Given the description of an element on the screen output the (x, y) to click on. 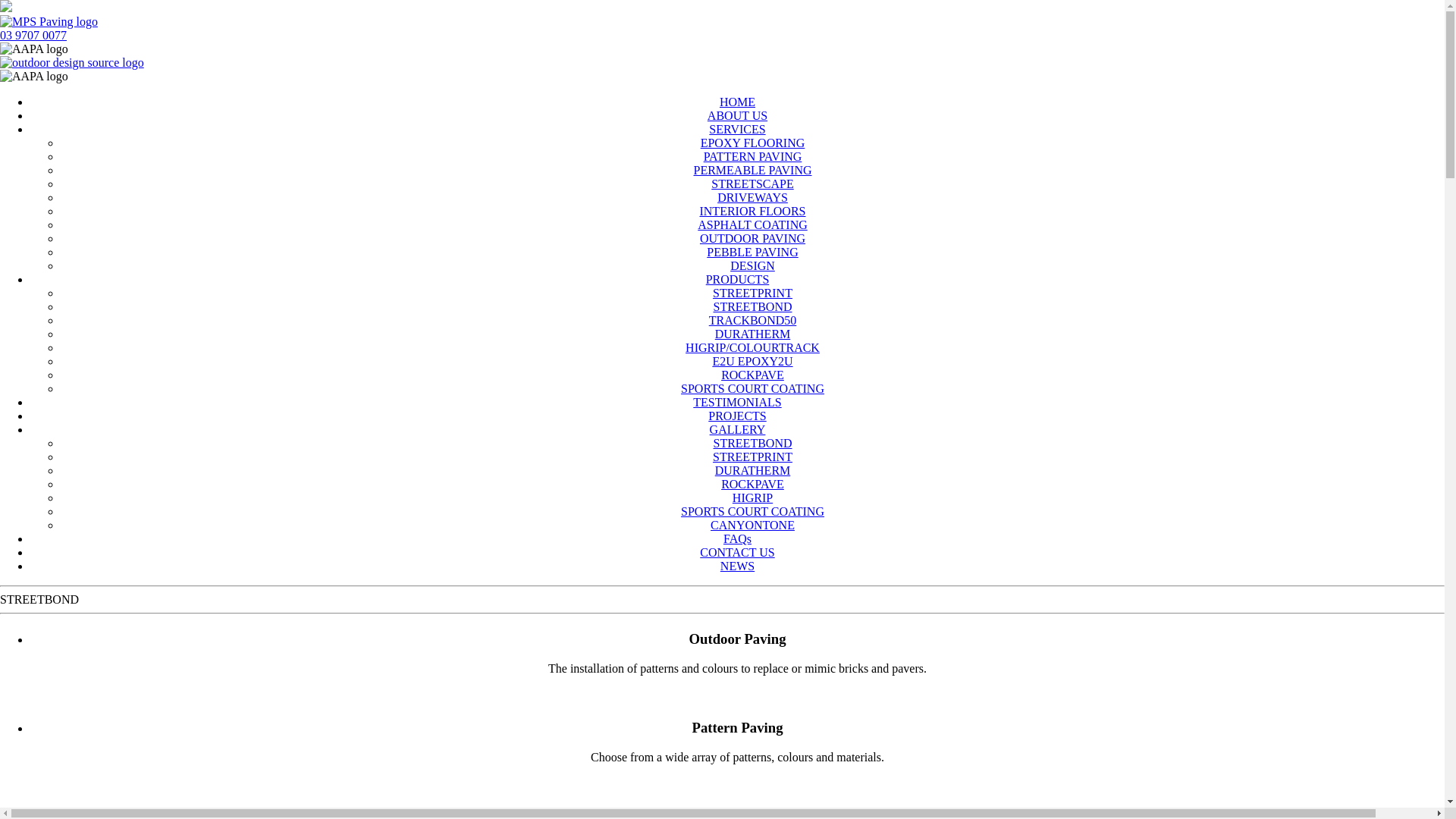
EPOXY FLOORING Element type: text (752, 142)
HIGRIP/COLOURTRACK Element type: text (752, 347)
STREETBOND Element type: text (751, 442)
GALLERY Element type: text (737, 429)
NEWS Element type: text (737, 565)
SERVICES Element type: text (737, 128)
DURATHERM Element type: text (752, 470)
PEBBLE PAVING Element type: text (751, 251)
E2U EPOXY2U Element type: text (752, 360)
PERMEABLE PAVING Element type: text (752, 169)
STREETPRINT Element type: text (752, 292)
OUTDOOR PAVING Element type: text (752, 238)
MPS Paving - Paving Systems Australia Element type: hover (48, 21)
ROCKPAVE Element type: text (752, 374)
TRACKBOND50 Element type: text (753, 319)
DESIGN Element type: text (752, 265)
TESTIMONIALS Element type: text (737, 401)
ASPHALT COATING Element type: text (751, 224)
HOME Element type: text (737, 101)
DURATHERM Element type: text (752, 333)
STREETSCAPE Element type: text (752, 183)
03 9707 0077 Element type: text (33, 34)
STREETPRINT Element type: text (752, 456)
STREETBOND Element type: text (751, 306)
PRODUCTS Element type: text (737, 279)
SPORTS COURT COATING Element type: text (752, 511)
ABOUT US Element type: text (737, 115)
CONTACT US Element type: text (736, 552)
FAQs Element type: text (737, 538)
PATTERN PAVING Element type: text (752, 156)
INTERIOR FLOORS Element type: text (752, 210)
ROCKPAVE Element type: text (752, 483)
DRIVEWAYS Element type: text (752, 197)
PROJECTS Element type: text (736, 415)
CANYONTONE Element type: text (752, 524)
HIGRIP Element type: text (752, 497)
SPORTS COURT COATING Element type: text (752, 388)
